Given the description of an element on the screen output the (x, y) to click on. 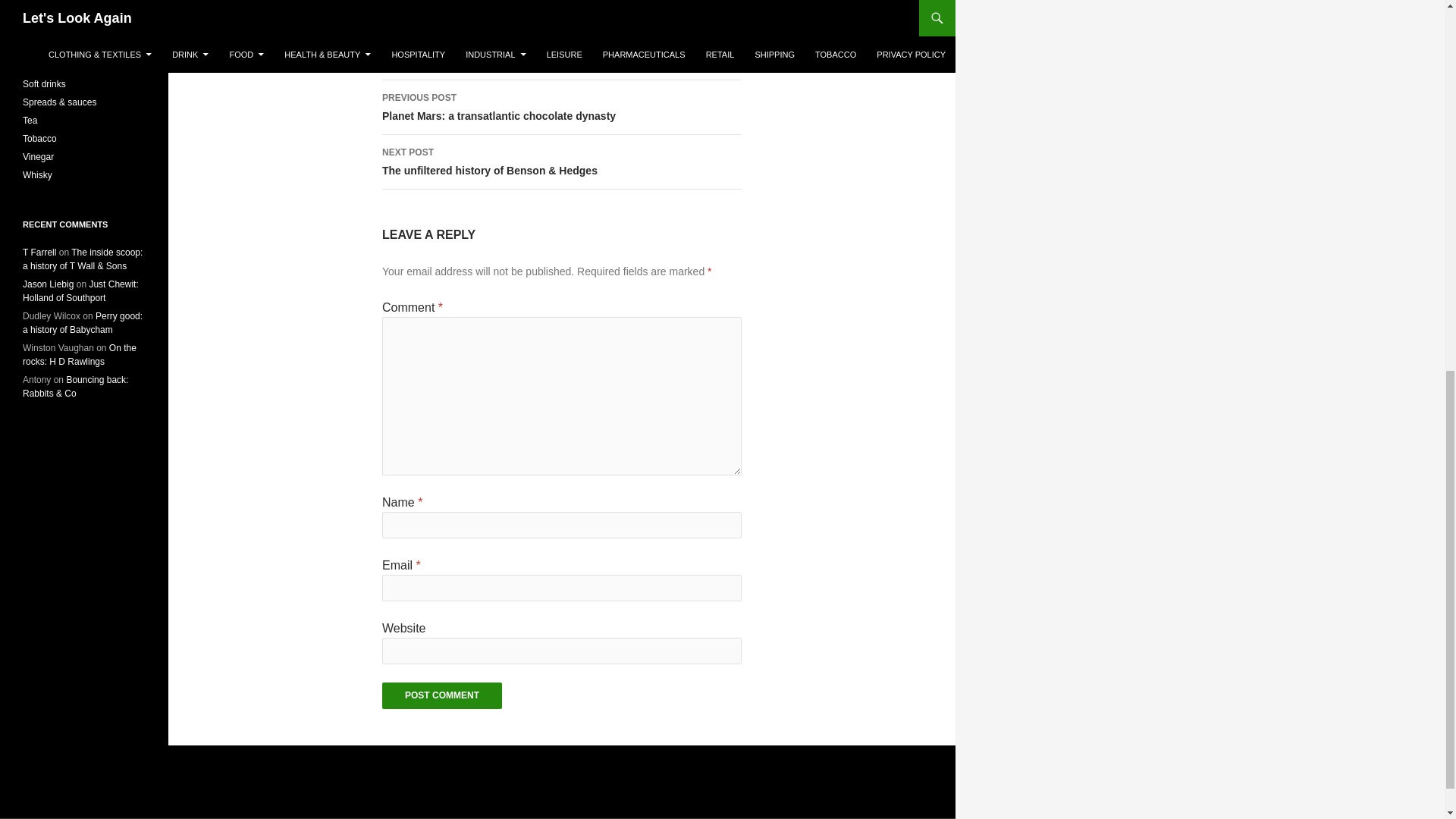
Post Comment (441, 695)
SAUCES RECONSIDERED (561, 107)
